Given the description of an element on the screen output the (x, y) to click on. 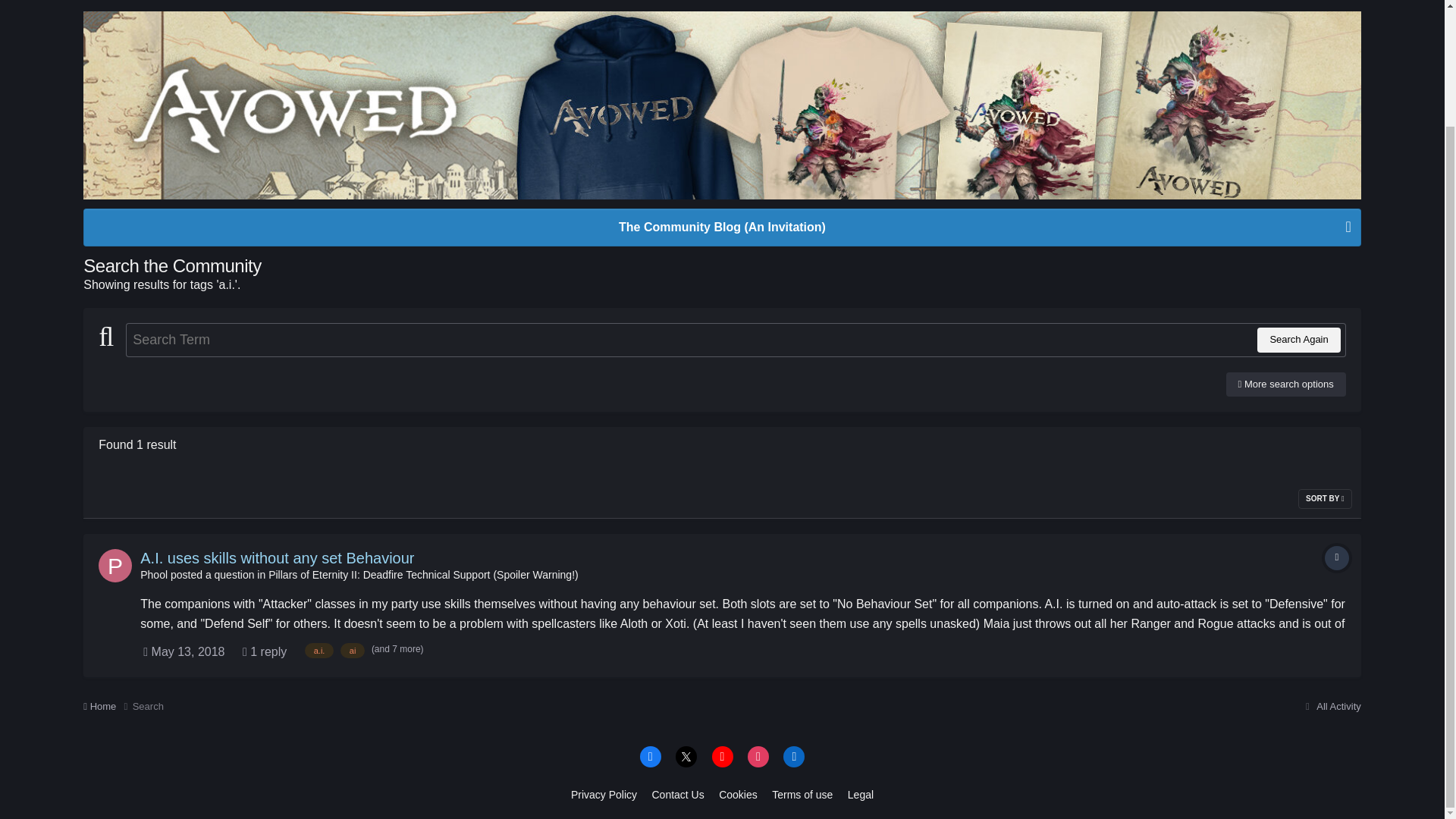
Topic (1336, 558)
More search options (1285, 384)
Home (107, 706)
Find other content tagged with 'a.i.' (319, 650)
Search Again (1298, 339)
Find other content tagged with 'ai' (352, 650)
Go to Phool's profile (115, 565)
Go to Phool's profile (153, 574)
